Given the description of an element on the screen output the (x, y) to click on. 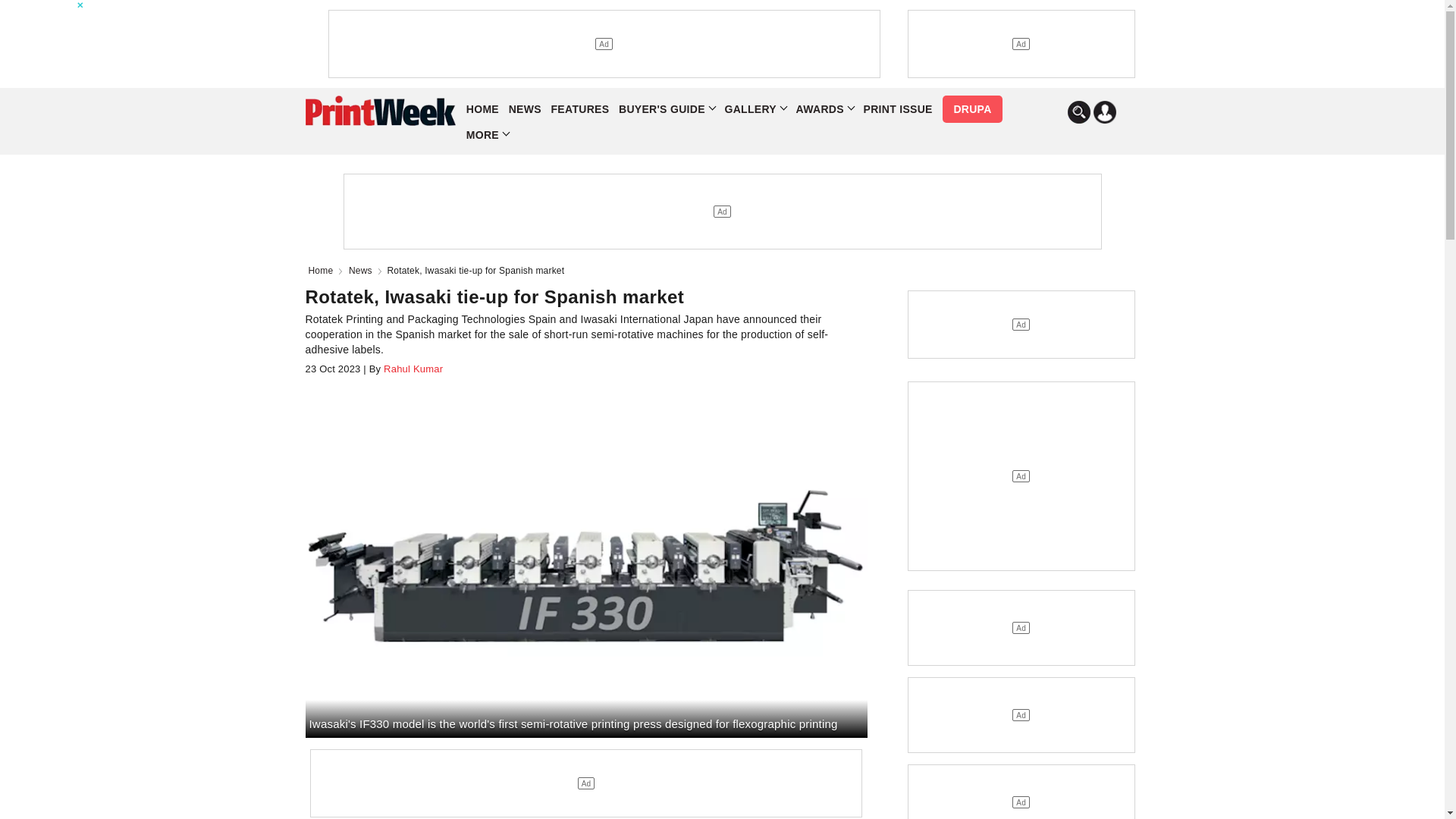
PRINT ISSUE (897, 109)
Search In PrintWeek India Website (1078, 111)
Drupa (971, 108)
Print Issue (897, 109)
DRUPA (971, 108)
Buyer's Guide (666, 109)
GALLERY (754, 109)
HOME (482, 109)
NEWS (524, 109)
Home (323, 270)
